Given the description of an element on the screen output the (x, y) to click on. 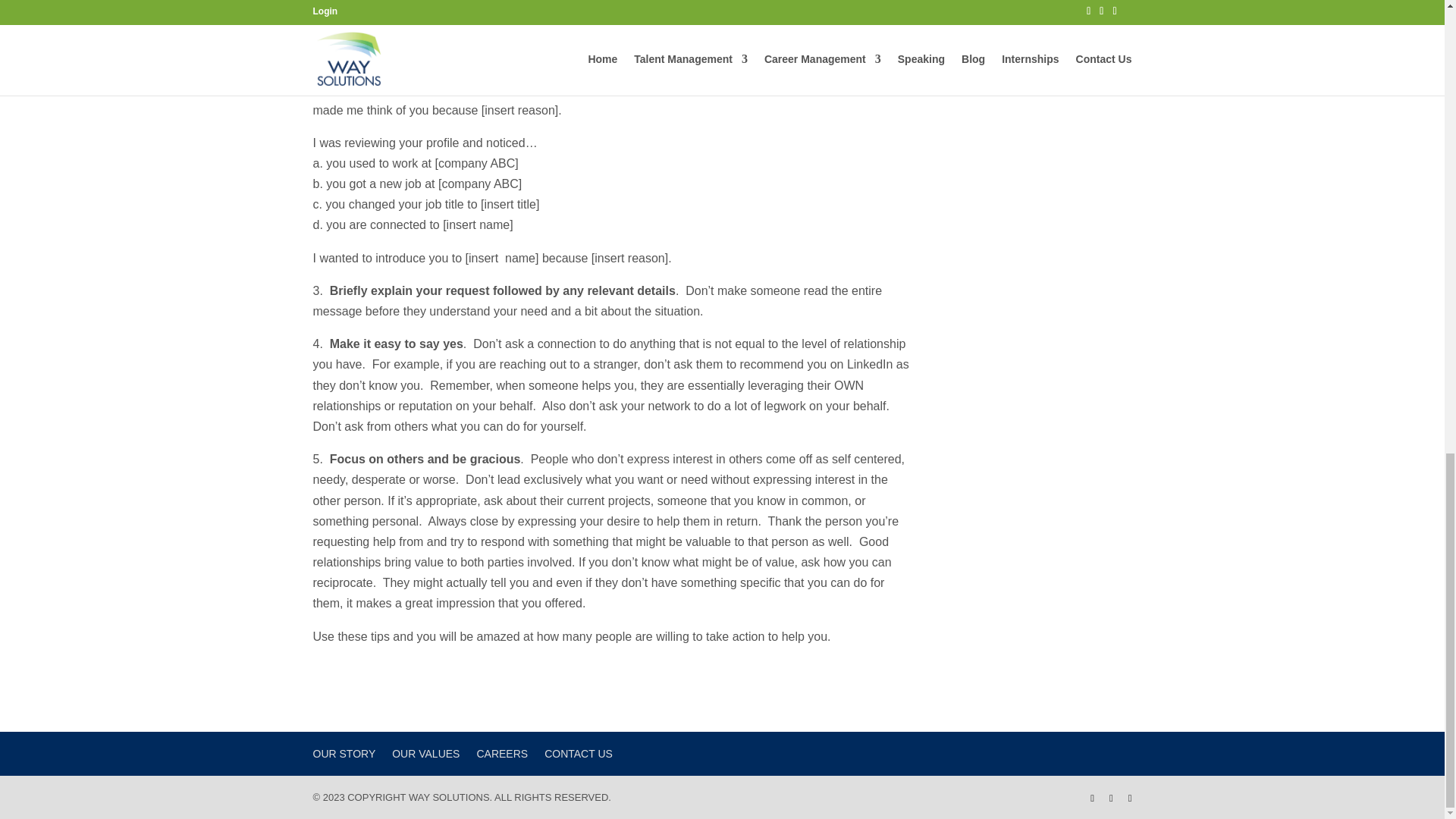
WAY SOLUTIONS (449, 797)
CAREERS (501, 753)
OUR STORY (344, 753)
CONTACT US (578, 753)
OUR VALUES (425, 753)
